Given the description of an element on the screen output the (x, y) to click on. 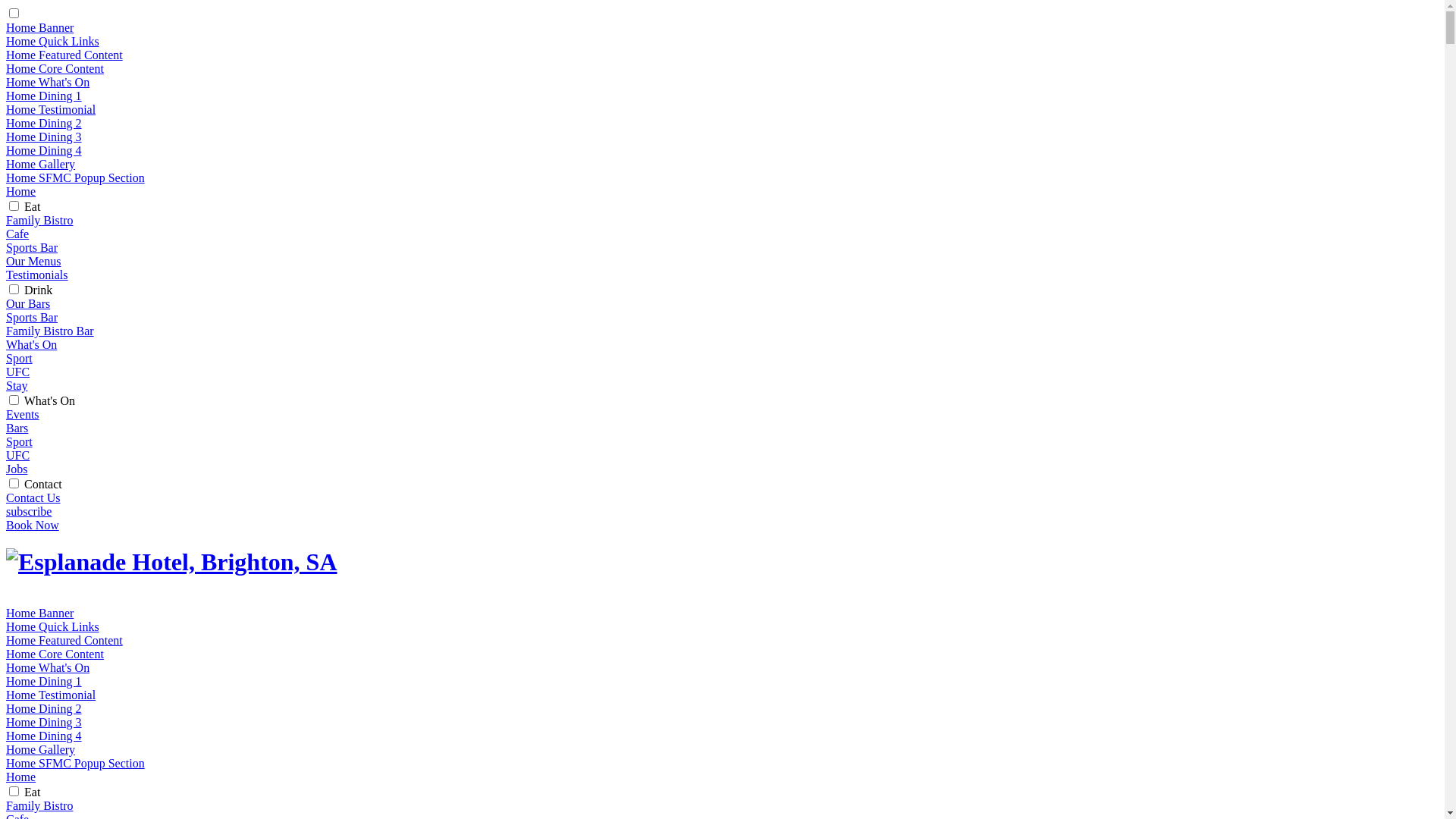
Eat Element type: text (32, 791)
Jobs Element type: text (16, 468)
Sport Element type: text (19, 441)
Stay Element type: text (16, 385)
Events Element type: text (22, 413)
Family Bistro Element type: text (39, 805)
Cafe Element type: text (17, 233)
Home Core Content Element type: text (54, 68)
Drink Element type: text (38, 289)
Sports Bar Element type: text (31, 247)
Home Dining 1 Element type: text (43, 95)
Home Quick Links Element type: text (52, 40)
Contact Us Element type: text (33, 497)
Home Gallery Element type: text (40, 749)
Home Testimonial Element type: text (50, 109)
Home What's On Element type: text (47, 667)
Home SFMC Popup Section Element type: text (75, 762)
Home Banner Element type: text (39, 612)
Bars Element type: text (17, 427)
Family Bistro Bar Element type: text (50, 330)
Home Featured Content Element type: text (64, 639)
Home Element type: text (20, 191)
Home Dining 4 Element type: text (43, 150)
Home Dining 3 Element type: text (43, 136)
Home Gallery Element type: text (40, 163)
Contact Element type: text (43, 483)
Home Quick Links Element type: text (52, 626)
UFC Element type: text (17, 454)
Home Dining 3 Element type: text (43, 721)
Sport Element type: text (19, 357)
Testimonials Element type: text (37, 274)
Our Bars Element type: text (28, 303)
Home Featured Content Element type: text (64, 54)
Home Dining 2 Element type: text (43, 122)
subscribe Element type: text (28, 511)
What's On Element type: text (49, 400)
Book Now Element type: text (32, 524)
What's On Element type: text (31, 344)
Home Dining 1 Element type: text (43, 680)
Our Menus Element type: text (33, 260)
Home What's On Element type: text (47, 81)
Home Testimonial Element type: text (50, 694)
Home Banner Element type: text (39, 27)
Sports Bar Element type: text (31, 316)
Family Bistro Element type: text (39, 219)
Eat Element type: text (32, 206)
Home Element type: text (20, 776)
Home SFMC Popup Section Element type: text (75, 177)
Home Dining 4 Element type: text (43, 735)
UFC Element type: text (17, 371)
Home Dining 2 Element type: text (43, 708)
Home Core Content Element type: text (54, 653)
